Given the description of an element on the screen output the (x, y) to click on. 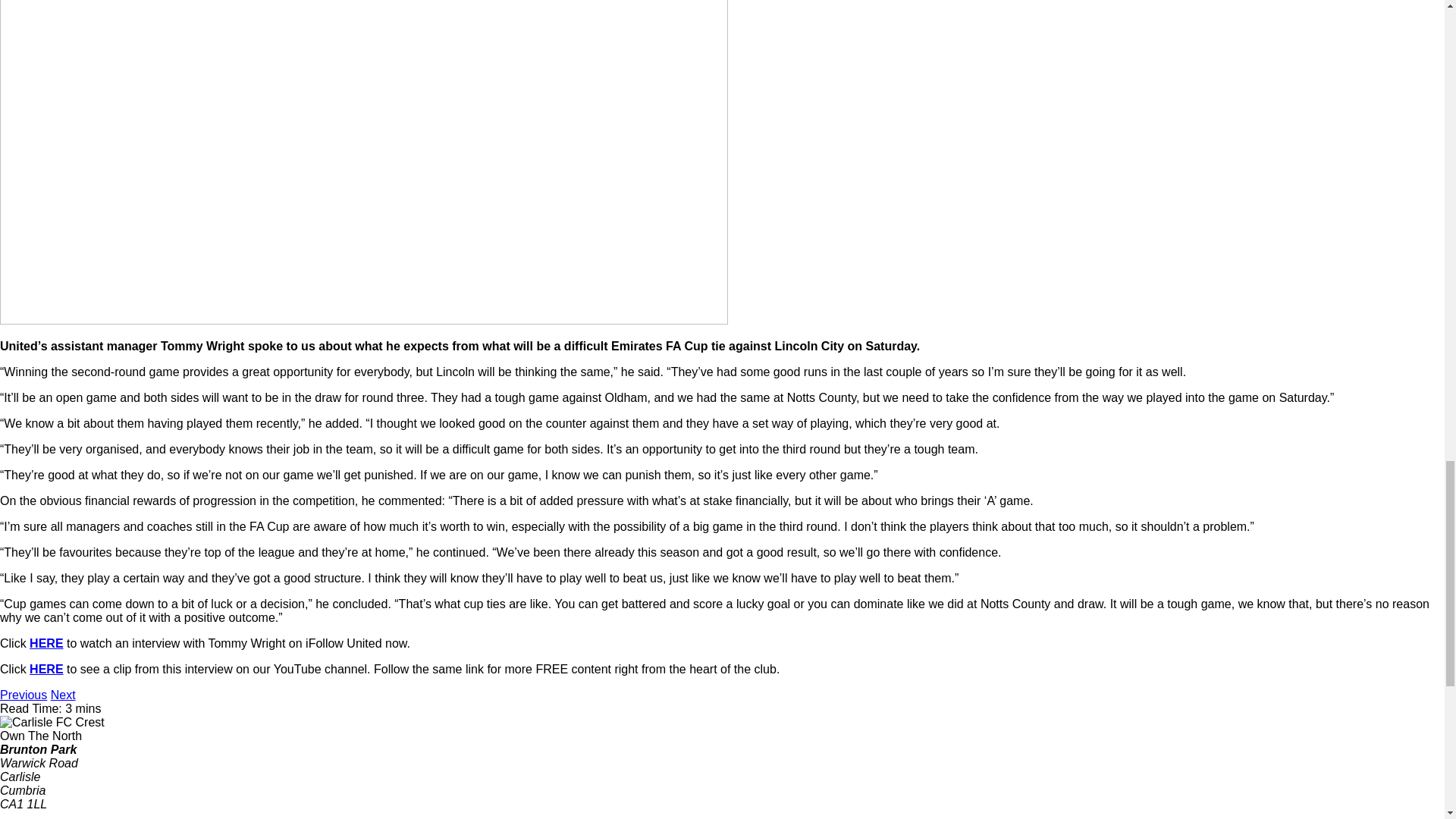
iFollow United (45, 643)
YouTube (45, 668)
